Given the description of an element on the screen output the (x, y) to click on. 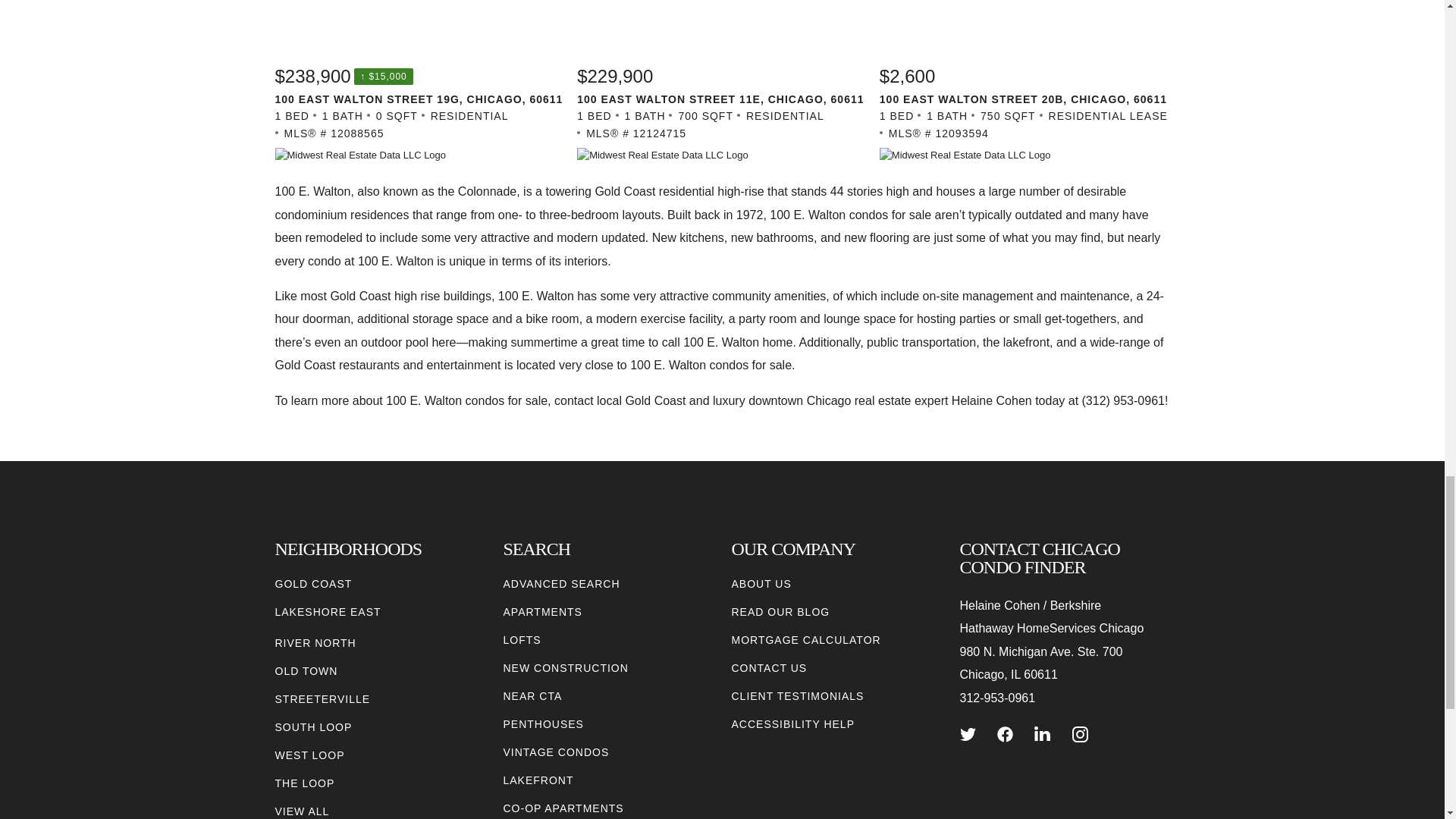
TWITTER (967, 734)
FACEBOOK (1005, 734)
LINKEDIN (1041, 734)
